Given the description of an element on the screen output the (x, y) to click on. 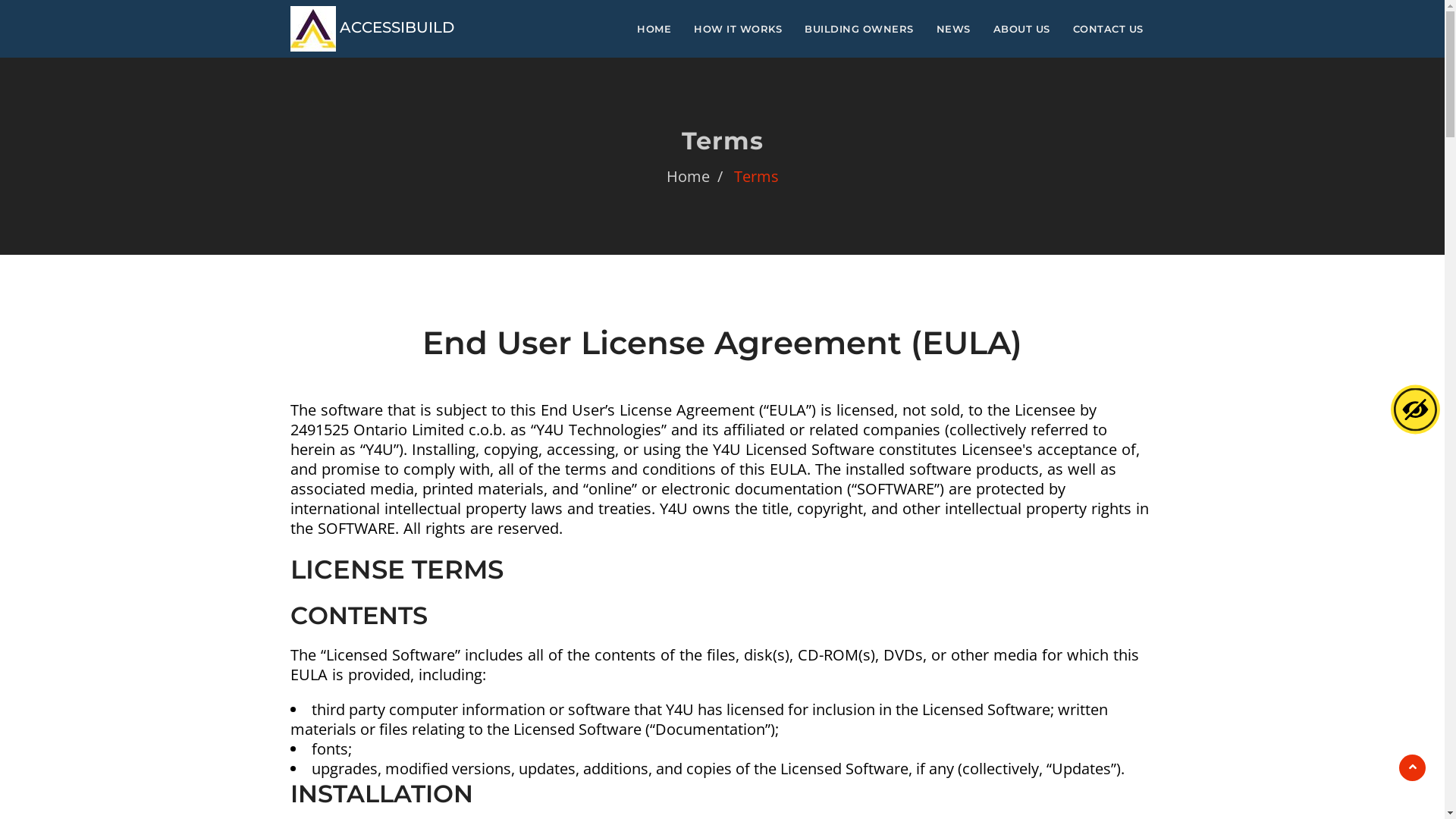
HOW IT WORKS Element type: text (737, 28)
Terms Element type: text (756, 176)
CONTACT US Element type: text (1107, 28)
NEWS Element type: text (953, 28)
BUILDING OWNERS Element type: text (859, 28)
ACCESSIBUILD Element type: text (371, 28)
ABOUT US Element type: text (1020, 28)
Home Element type: text (697, 176)
HOME Element type: text (653, 28)
